Given the description of an element on the screen output the (x, y) to click on. 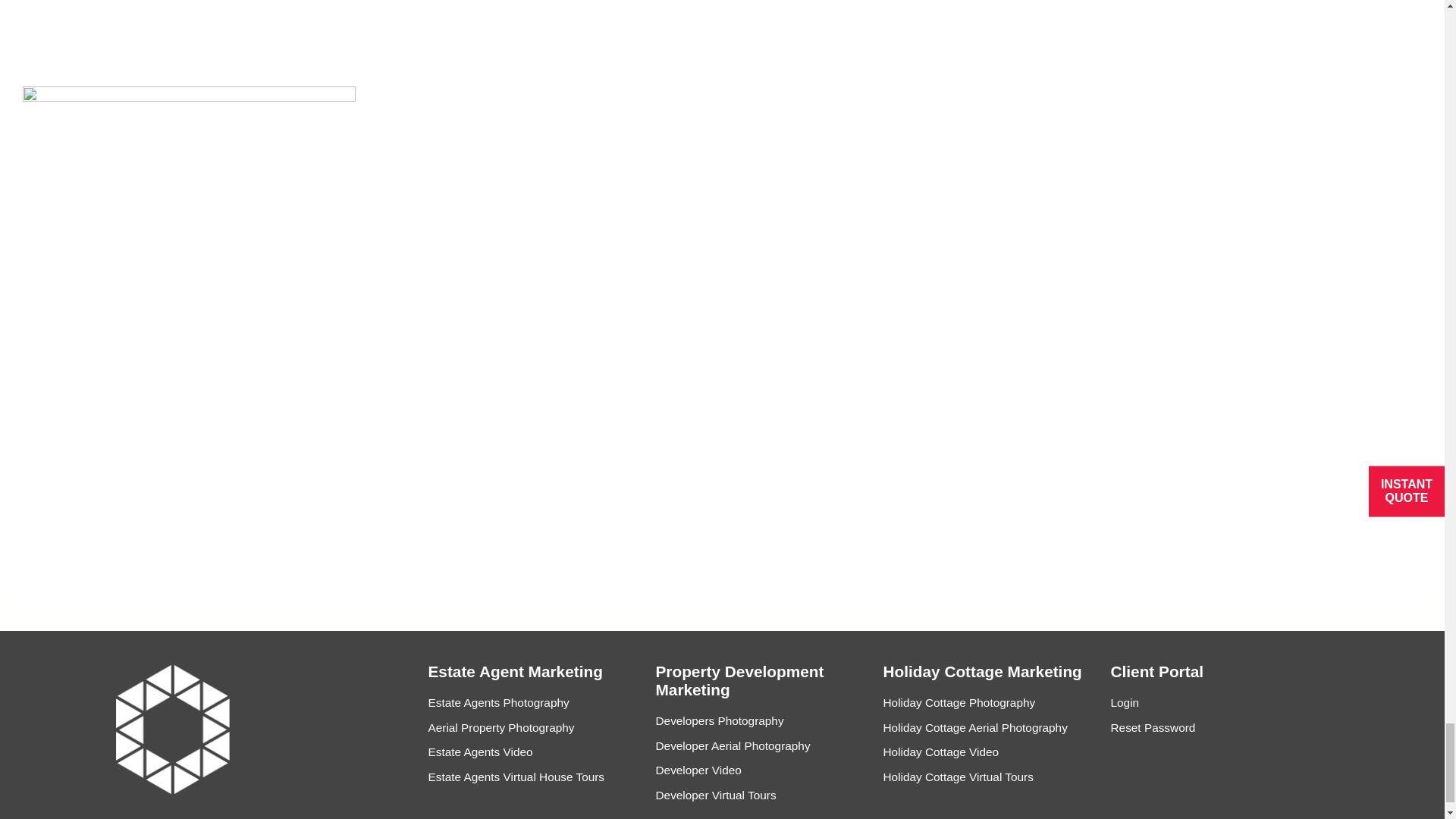
Developer Virtual Tours (759, 795)
Estate Agents Photography (532, 703)
Estate Agents Video (532, 752)
Estate Agents Virtual House Tours (532, 776)
Developers Photography (759, 721)
Developer Video (759, 770)
Estate Agent Marketing (515, 677)
Property Development Marketing (759, 686)
Developer Aerial Photography (759, 745)
Aerial Property Photography (532, 727)
